Given the description of an element on the screen output the (x, y) to click on. 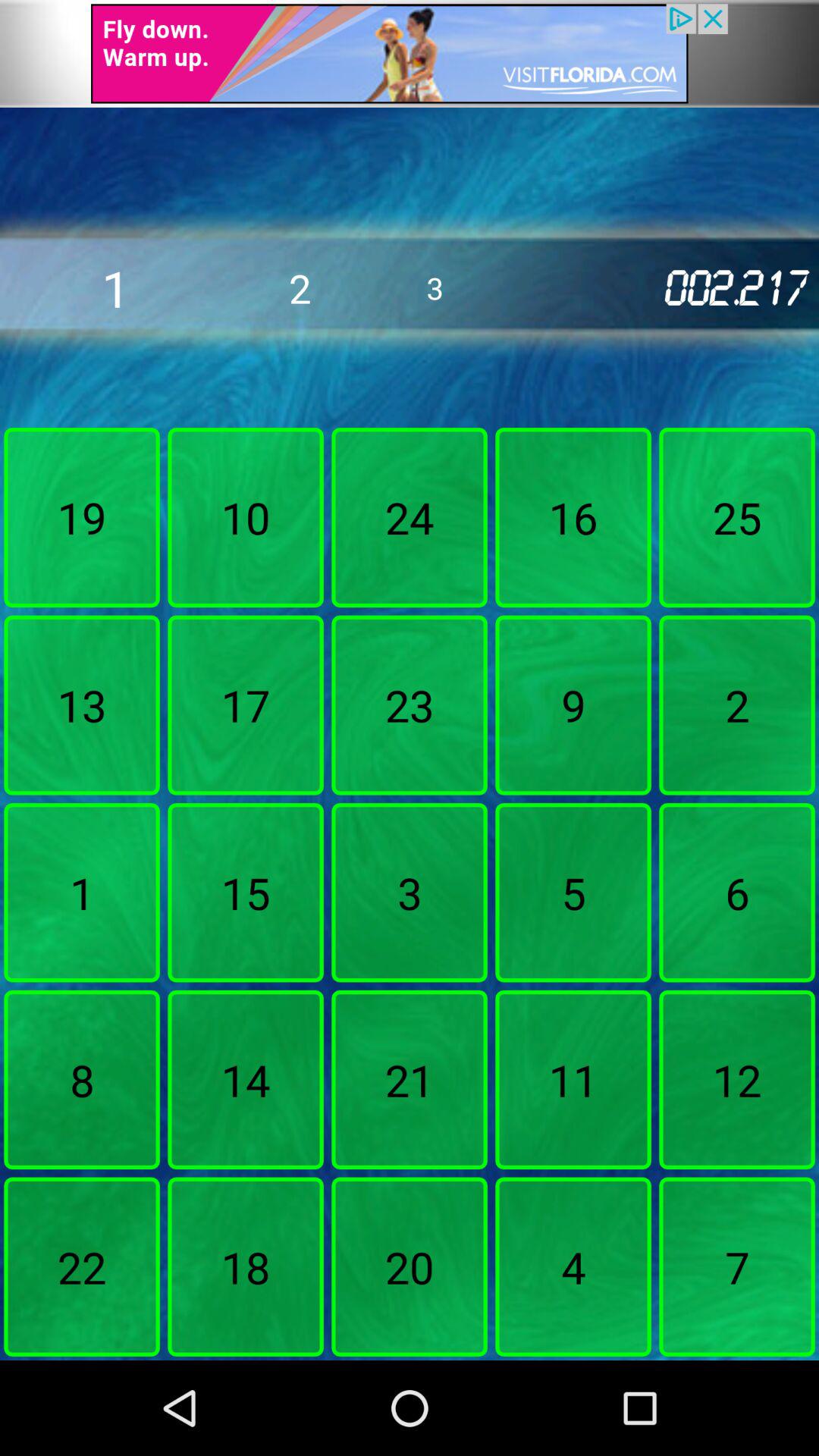
remove add (409, 53)
